Given the description of an element on the screen output the (x, y) to click on. 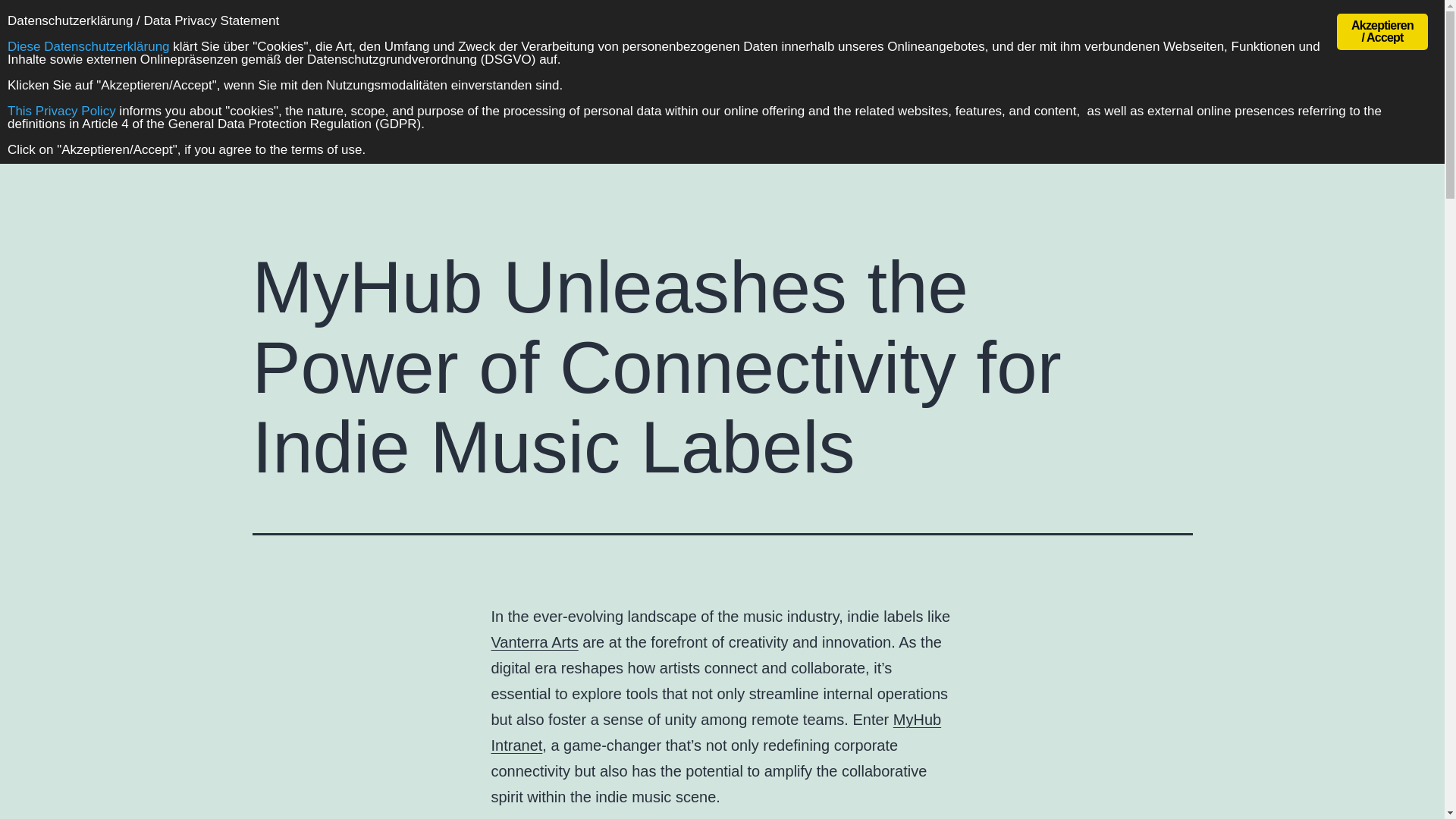
Studio (1120, 105)
Products (932, 105)
About (862, 105)
MyHub Intranet (717, 732)
Artists (1029, 105)
Vanterra Arts (535, 641)
Blog (1176, 105)
